Given the description of an element on the screen output the (x, y) to click on. 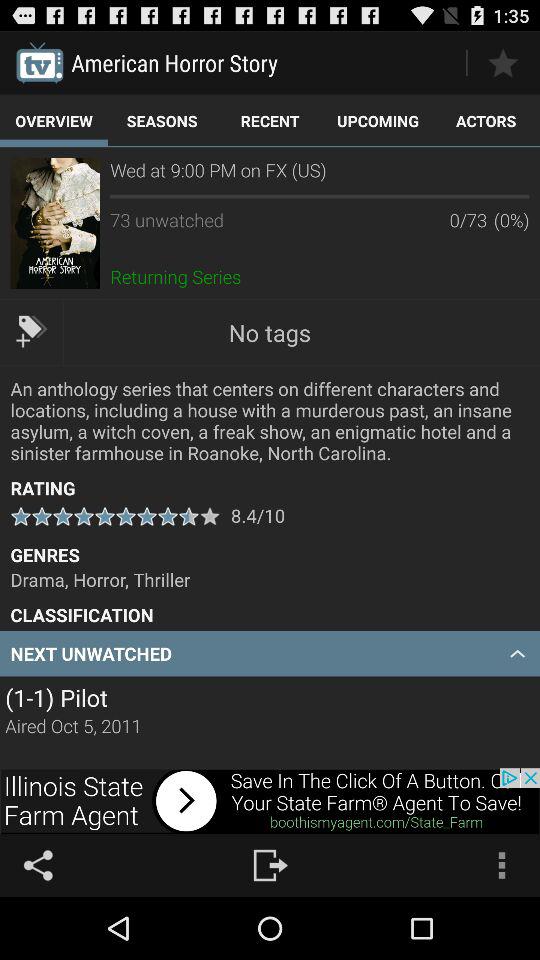
go to image (54, 223)
